Given the description of an element on the screen output the (x, y) to click on. 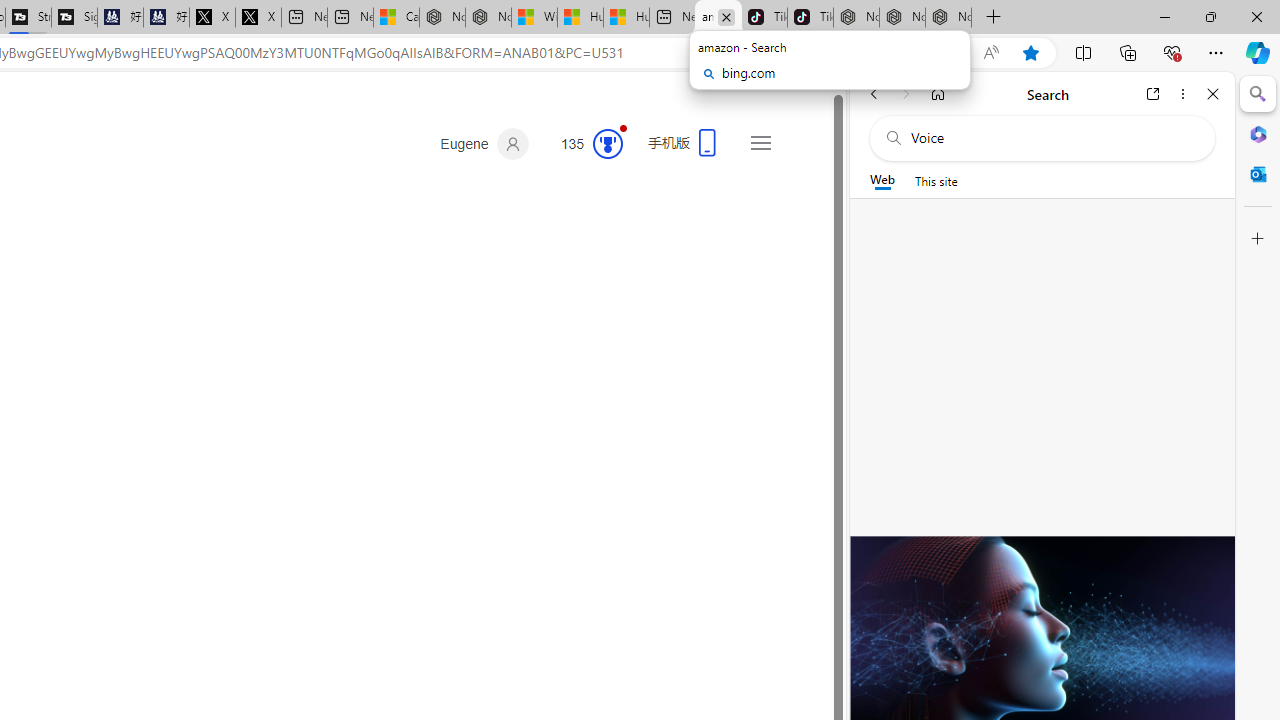
Search the web (1051, 137)
Customize (1258, 239)
Class: medal-svg-animation (607, 143)
Outlook (1258, 174)
Microsoft 365 (1258, 133)
Home (938, 93)
Huge shark washes ashore at New York City beach | Watch (626, 17)
Nordace Siena Pro 15 Backpack (902, 17)
